Given the description of an element on the screen output the (x, y) to click on. 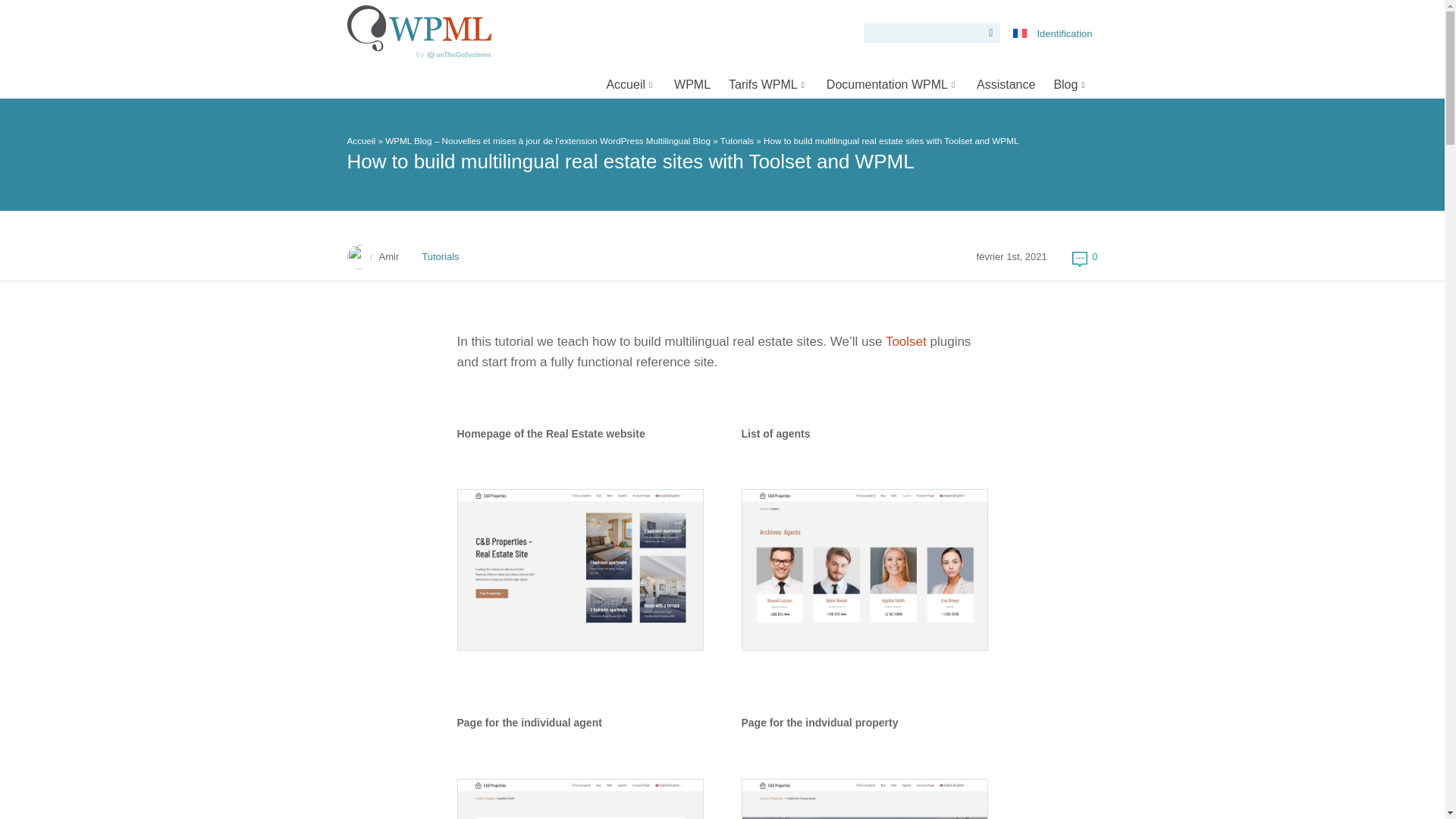
WPML (692, 84)
Articles par Amir (388, 256)
Identification (1063, 32)
Tarifs WPML (767, 84)
Documentation WPML (892, 84)
Accueil (630, 84)
Rechercher (986, 33)
Rechercher (986, 33)
